Given the description of an element on the screen output the (x, y) to click on. 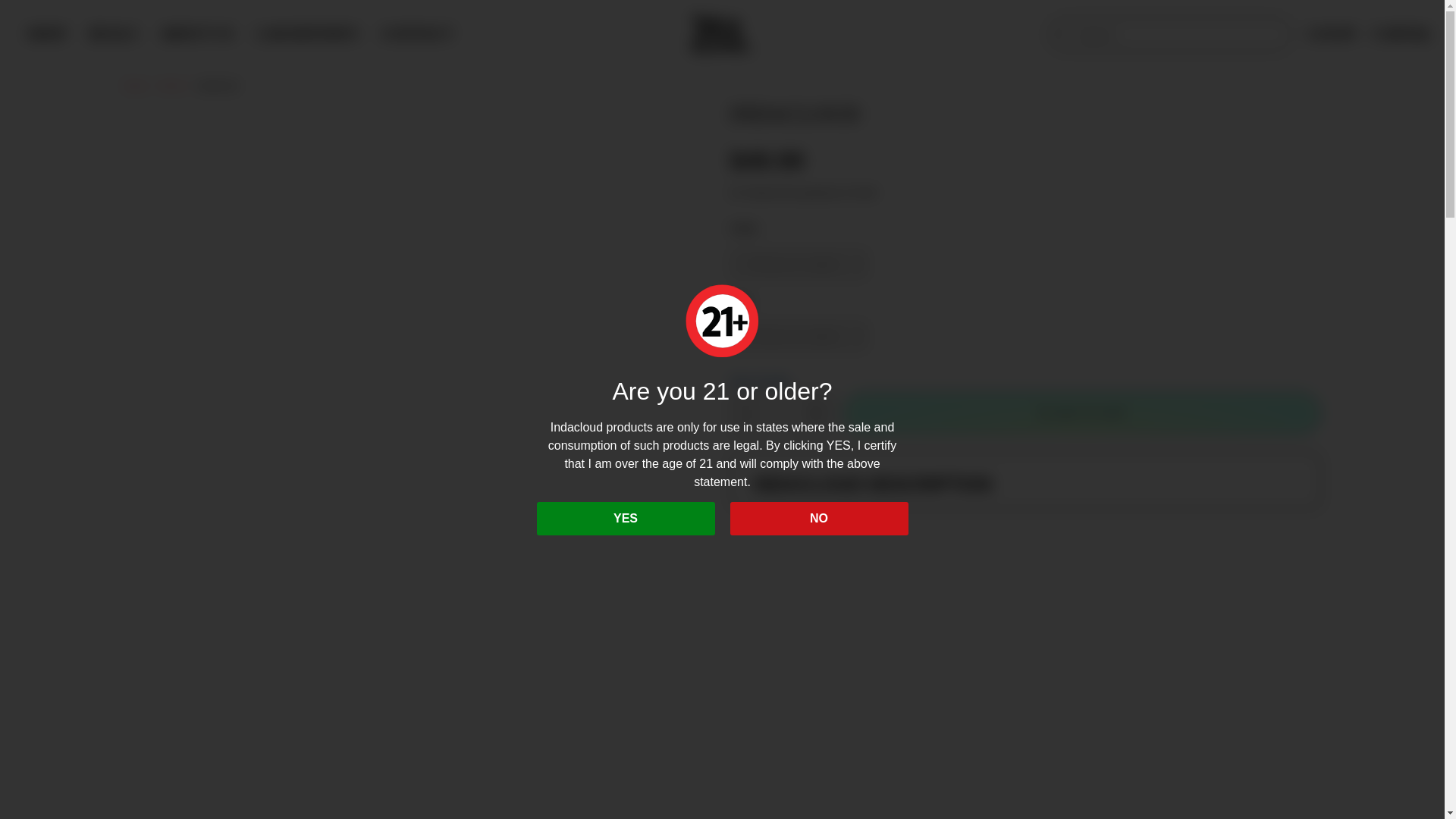
YES (625, 518)
Home (134, 84)
Merch (173, 84)
1 (780, 412)
LAB REPORTS (307, 33)
CONTACT (416, 33)
DEALS (112, 34)
NO (818, 518)
SHOP (45, 34)
ABOUT US (196, 33)
